Given the description of an element on the screen output the (x, y) to click on. 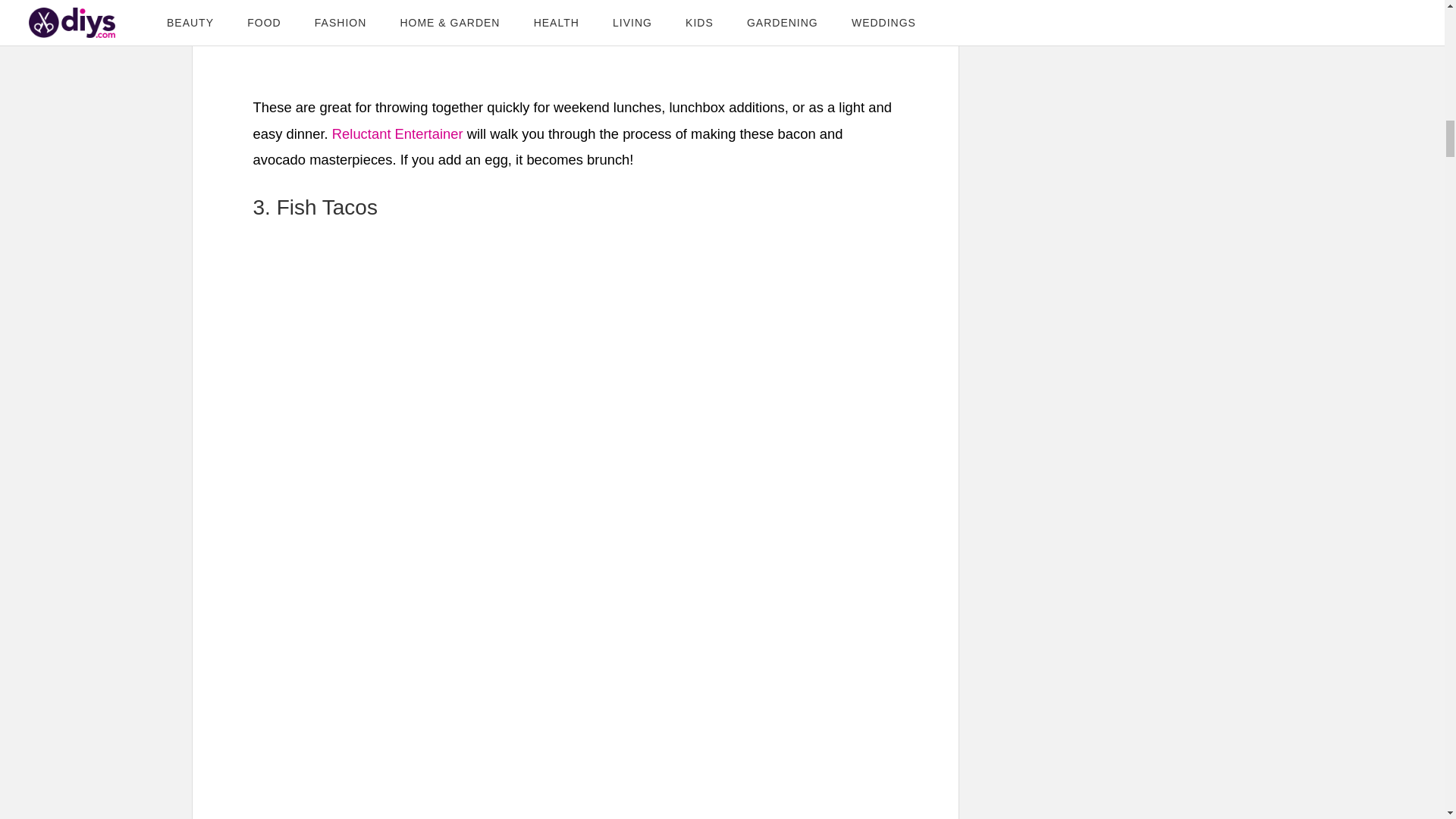
Reluctant Entertainer (397, 133)
